Given the description of an element on the screen output the (x, y) to click on. 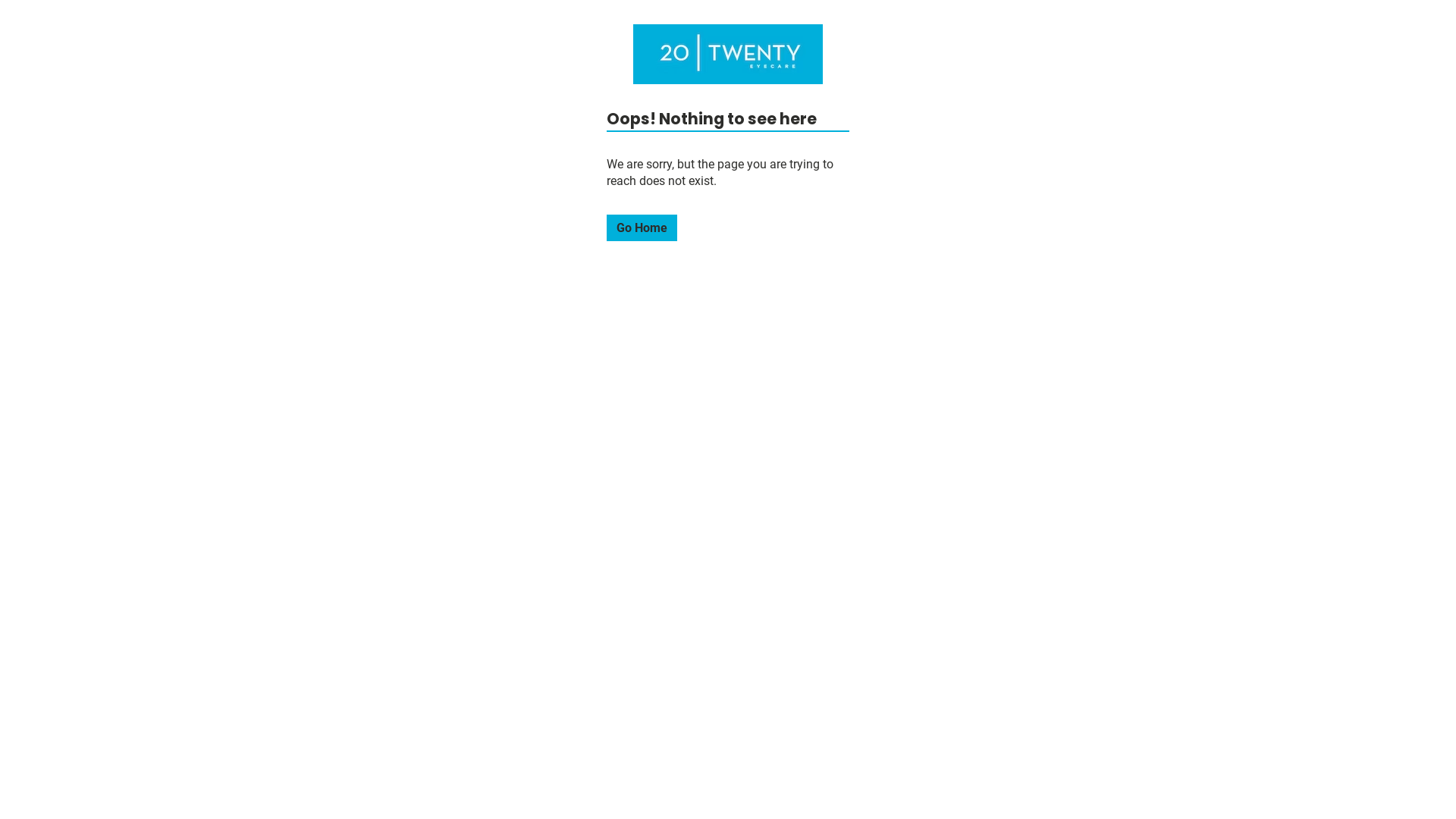
Go Home Element type: text (641, 227)
